Given the description of an element on the screen output the (x, y) to click on. 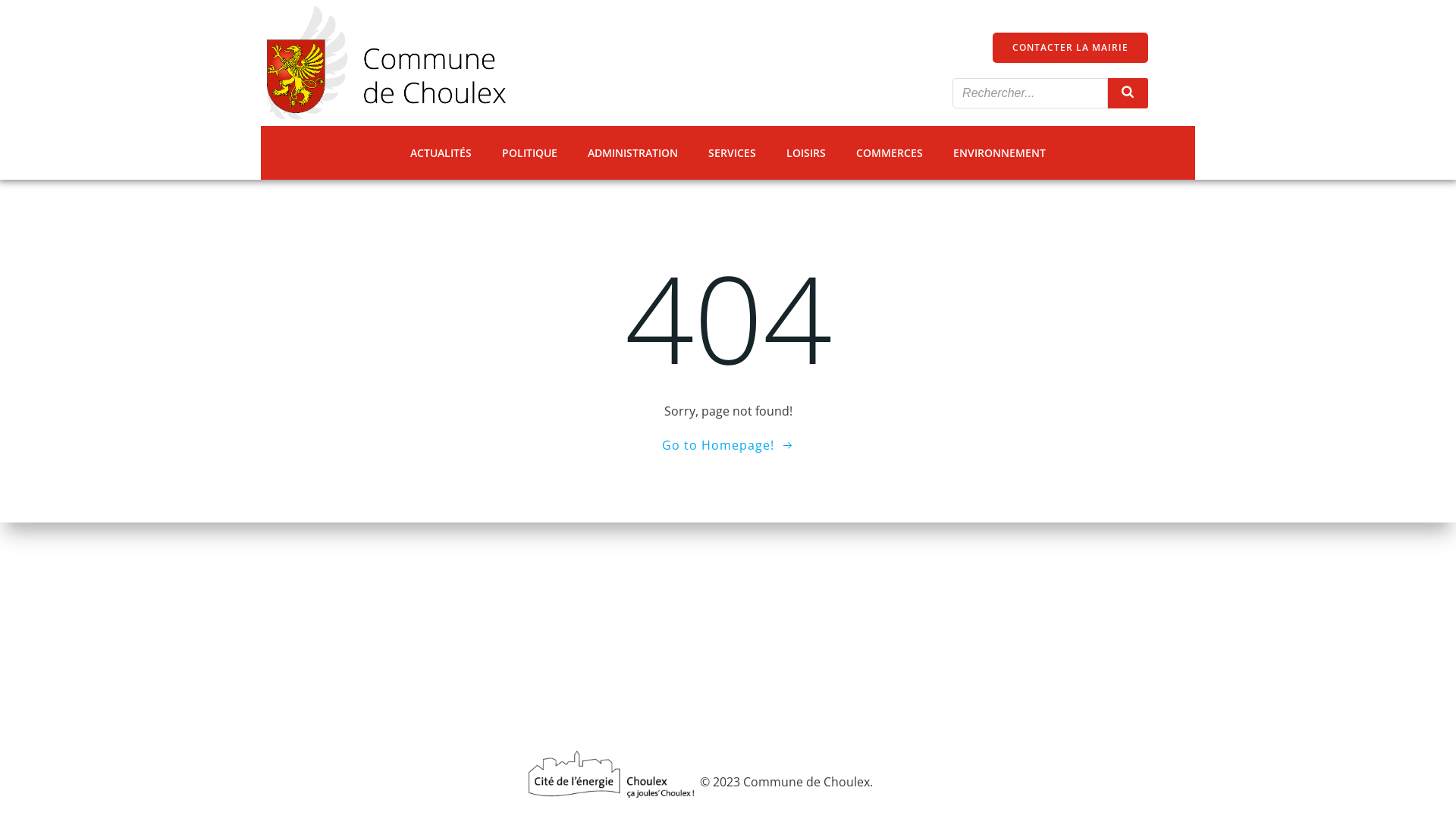
SERVICES Element type: text (732, 152)
POLITIQUE Element type: text (529, 152)
ADMINISTRATION Element type: text (632, 152)
ENVIRONNEMENT Element type: text (999, 152)
CONTACTER LA MAIRIE Element type: text (1070, 47)
COMMERCES Element type: text (889, 152)
LOISIRS Element type: text (805, 152)
Go to Homepage! Element type: text (727, 445)
